Given the description of an element on the screen output the (x, y) to click on. 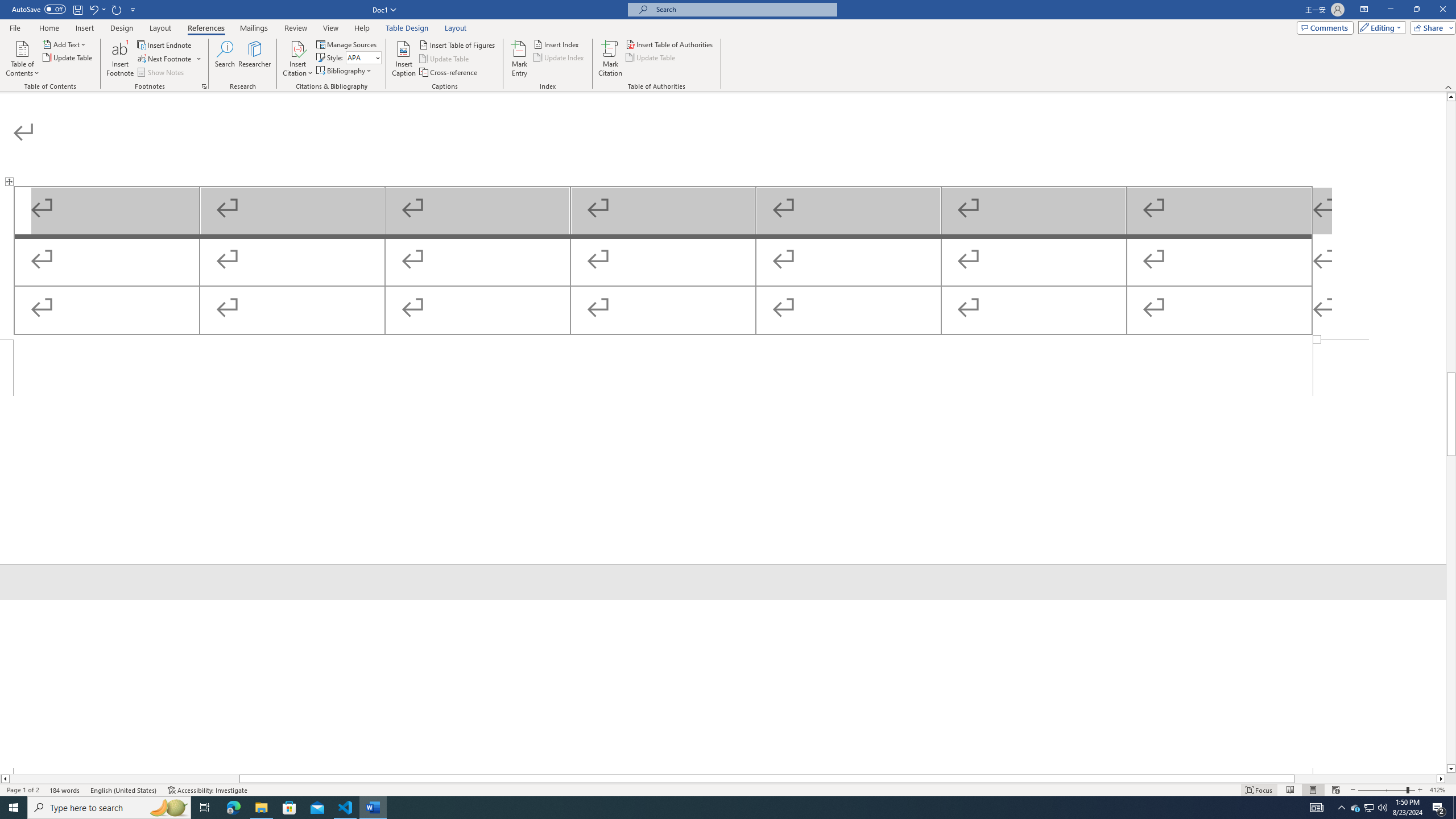
Table Design (407, 28)
Column left (5, 778)
Insert Table of Authorities... (670, 44)
Bibliography (344, 69)
Line up (1450, 96)
Accessibility Checker Accessibility: Investigate (207, 790)
